Given the description of an element on the screen output the (x, y) to click on. 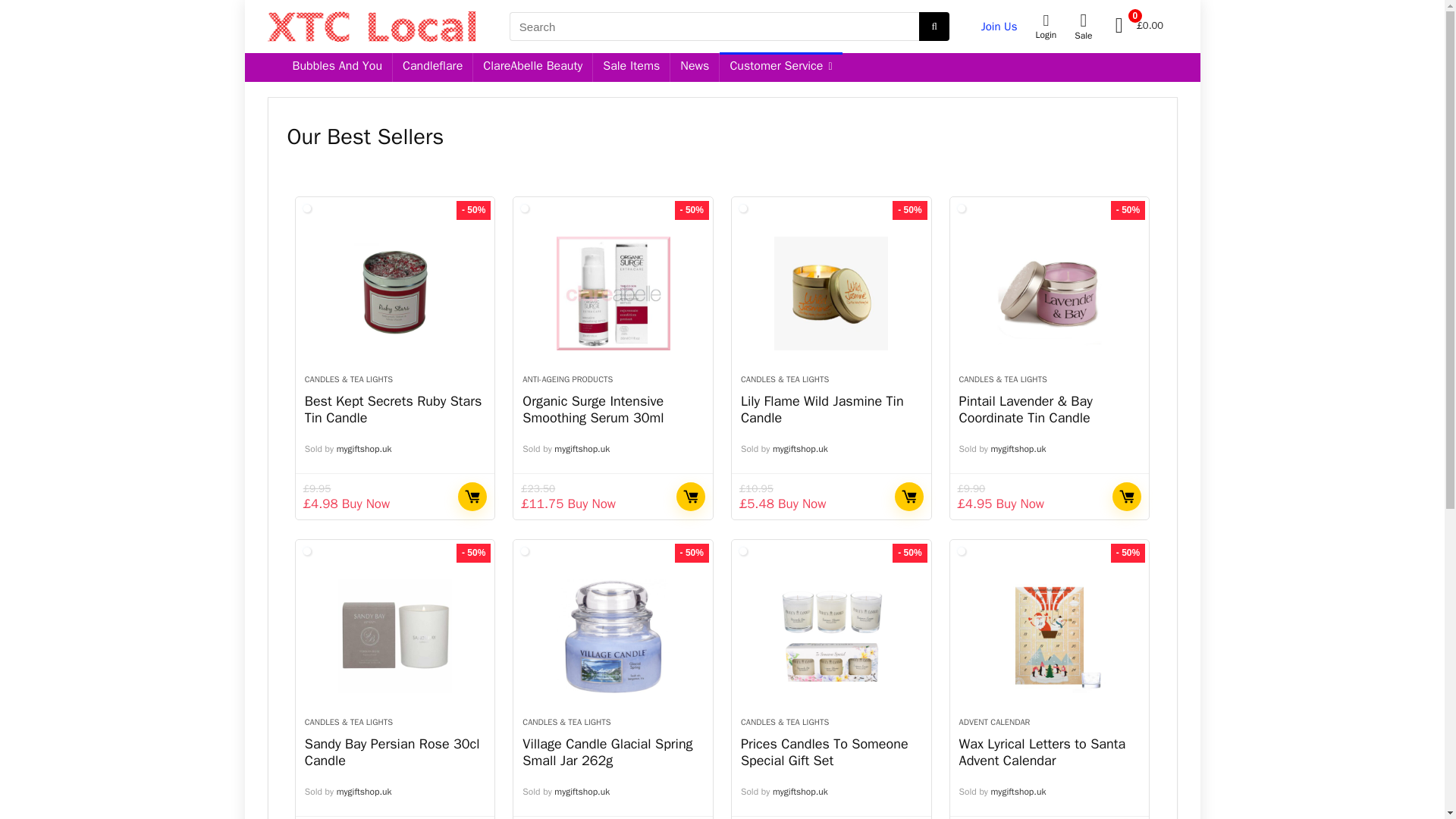
mygiftshop.uk (1018, 449)
Wax Lyrical Letters to Santa Advent Calendar (1049, 636)
Customer Service (780, 67)
ADD TO BASKET (909, 496)
Lily Flame Wild Jasmine Tin Candle (831, 293)
Sandy Bay Persian Rose 30cl Candle (392, 752)
mygiftshop.uk (582, 449)
ANTI-AGEING PRODUCTS (567, 378)
Join Us (999, 26)
Best Kept Secrets Ruby Stars Tin Candle (395, 293)
